Given the description of an element on the screen output the (x, y) to click on. 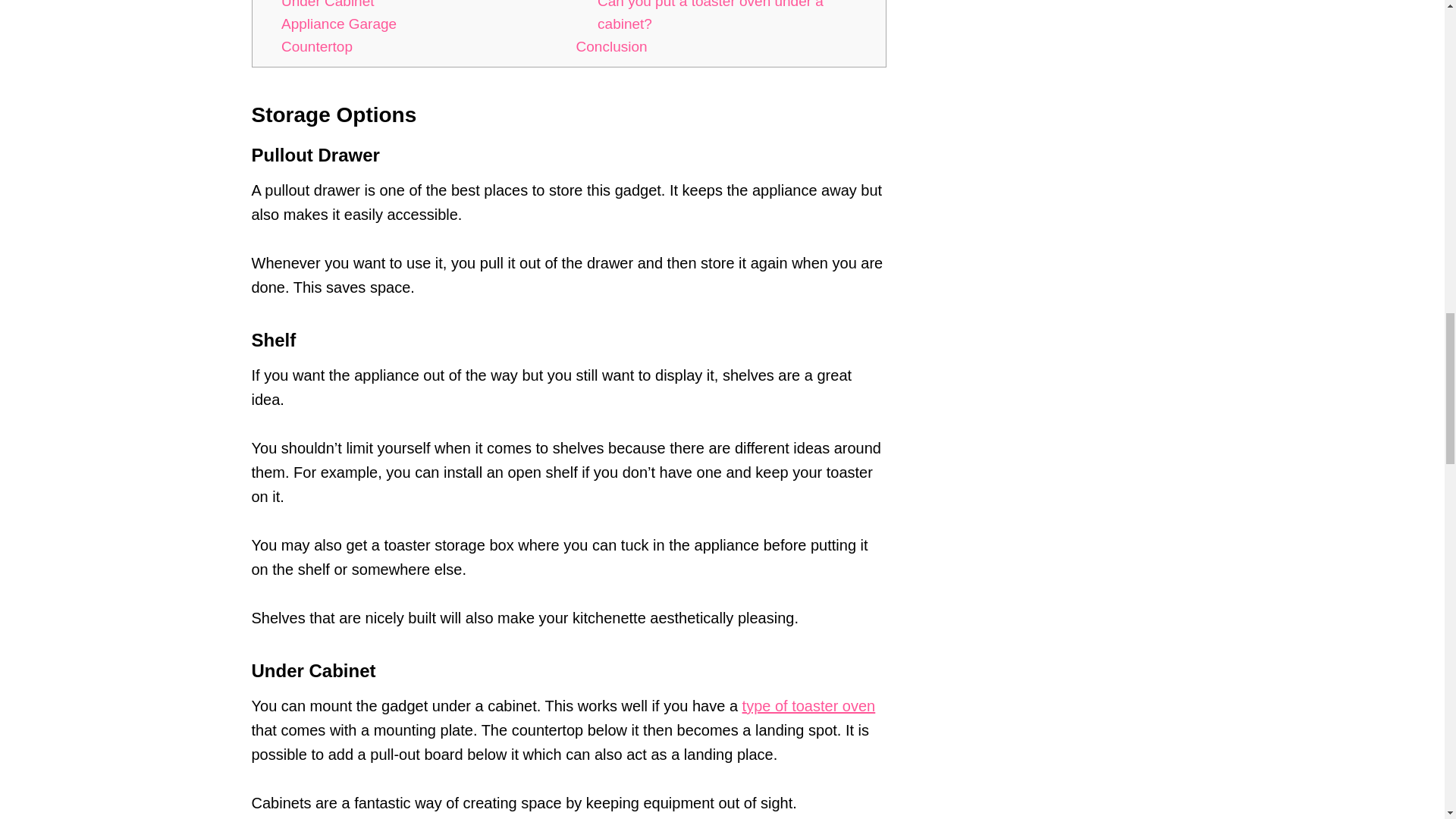
Conclusion (611, 46)
Can you put a toaster oven under a cabinet? (710, 15)
Countertop (316, 46)
Appliance Garage (338, 23)
Under Cabinet (327, 4)
type of toaster oven (809, 705)
